Given the description of an element on the screen output the (x, y) to click on. 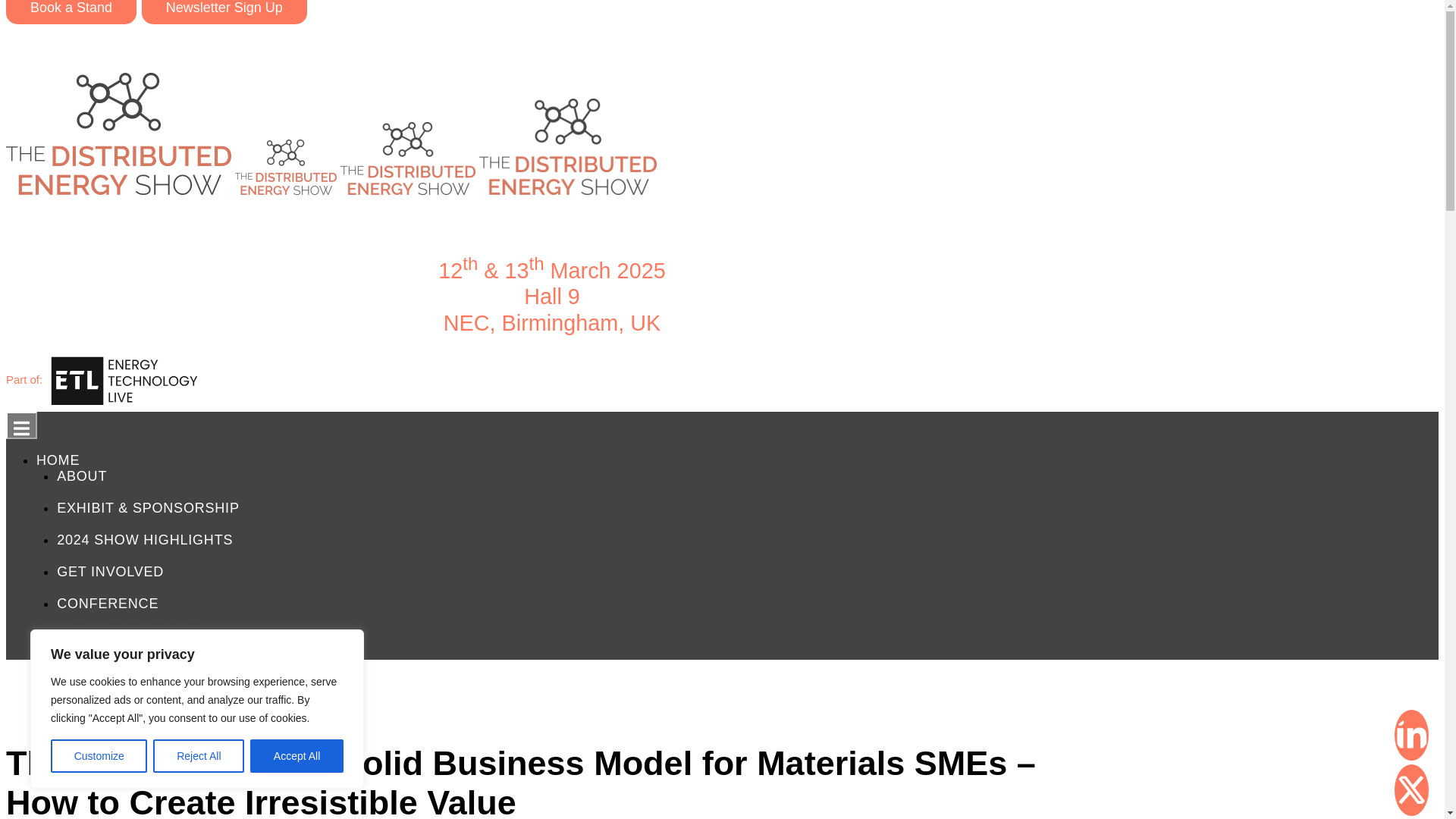
Book a Stand (70, 12)
CONFERENCE (107, 603)
SPONSORS (176, 491)
SOCIAL FEED (635, 491)
Exhibitor List (313, 523)
2024 SHOW HIGHLIGHTS (144, 539)
EXHIBITOR LIST (313, 523)
Home (58, 459)
SUPPORTERS (285, 491)
FOUNDING PARTNERS (429, 491)
About (81, 476)
About (91, 491)
Newsletter (750, 491)
Accept All (296, 756)
ABOUT (81, 476)
